Given the description of an element on the screen output the (x, y) to click on. 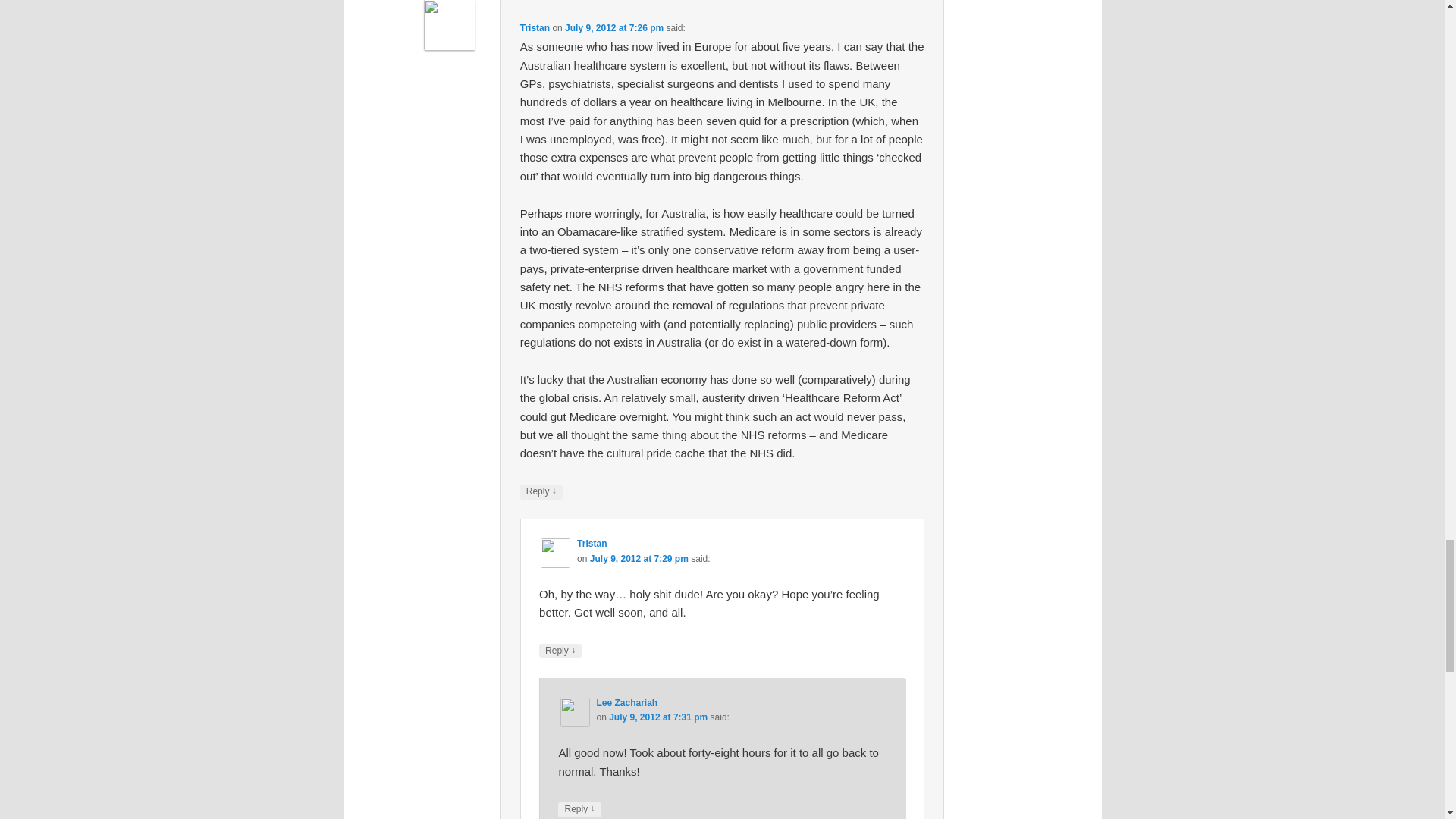
Lee Zachariah (626, 702)
July 9, 2012 at 7:31 pm (657, 716)
July 9, 2012 at 7:26 pm (613, 27)
Tristan (591, 543)
Tristan (534, 27)
July 9, 2012 at 7:29 pm (638, 558)
